Given the description of an element on the screen output the (x, y) to click on. 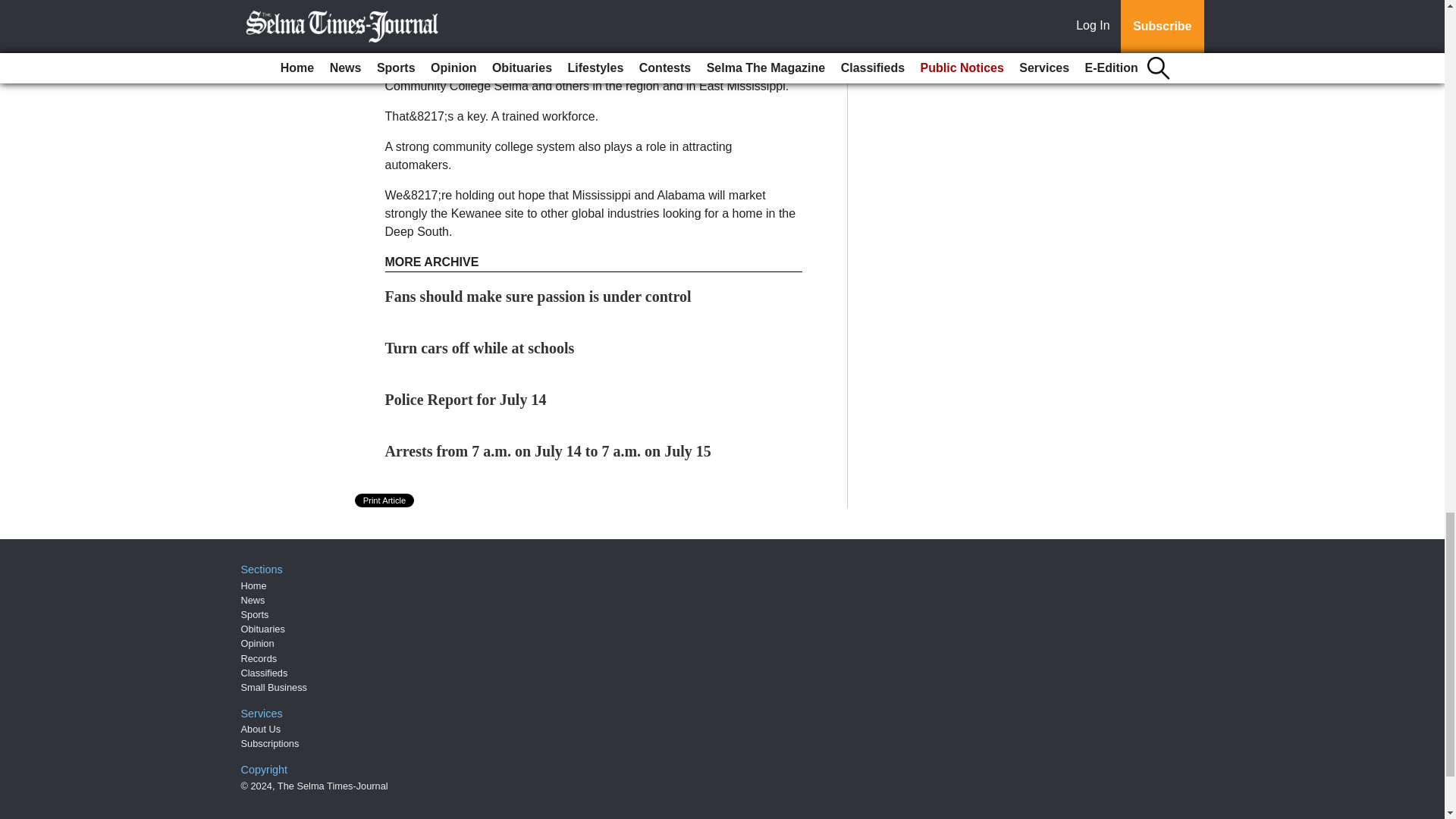
Home (253, 585)
Sports (255, 614)
Opinion (258, 643)
Police Report for July 14 (466, 399)
Arrests from 7 a.m. on July 14 to 7 a.m. on July 15 (548, 451)
Turn cars off while at schools (480, 347)
Police Report for July 14 (466, 399)
Arrests from 7 a.m. on July 14 to 7 a.m. on July 15 (548, 451)
Fans should make sure passion is under control (538, 296)
Print Article (384, 499)
News (252, 600)
Classifieds (264, 672)
Obituaries (263, 628)
Turn cars off while at schools (480, 347)
Fans should make sure passion is under control (538, 296)
